Given the description of an element on the screen output the (x, y) to click on. 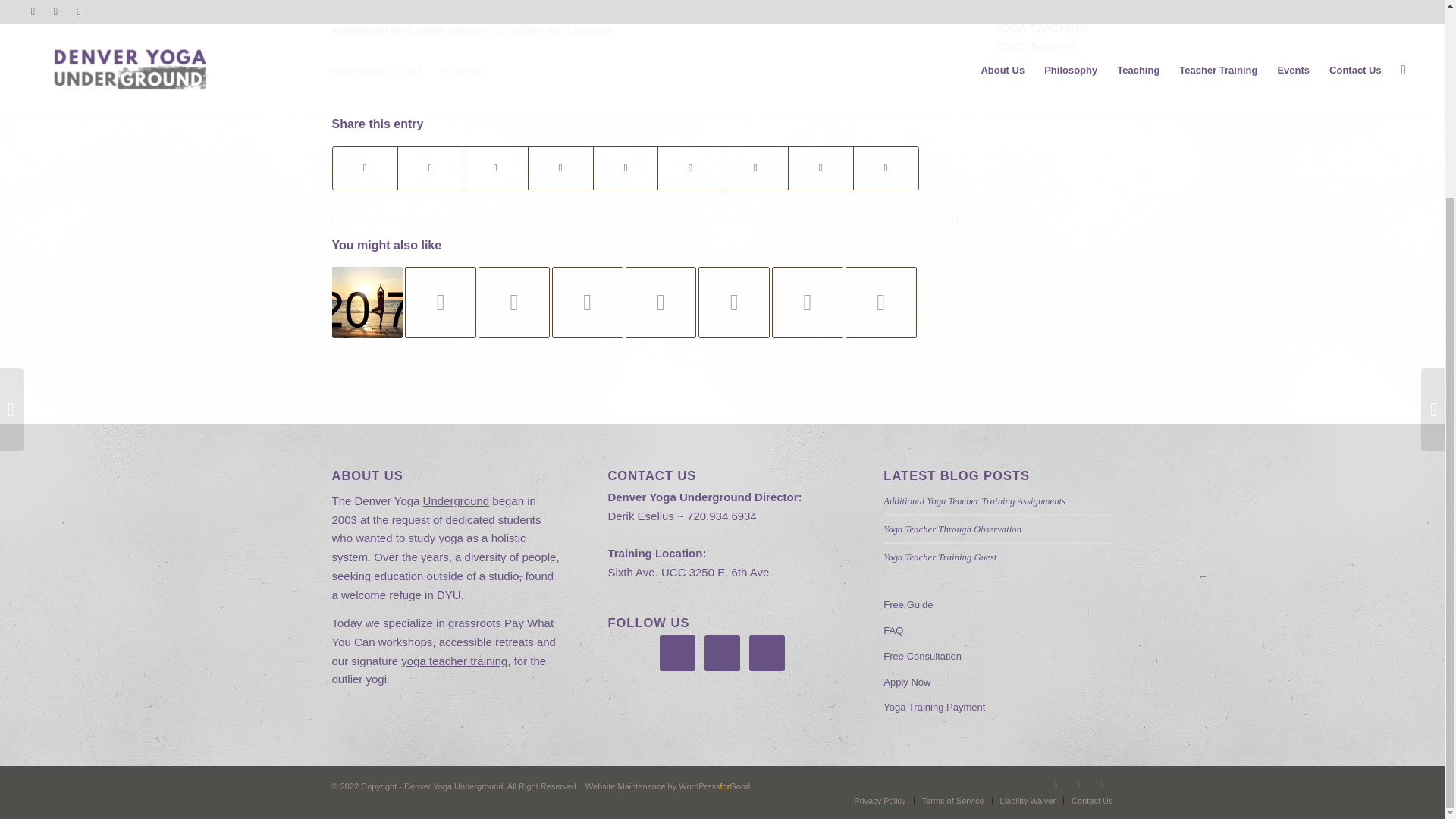
DERIK (469, 71)
Posts by derik (469, 71)
Yoga Resolution 3: Make Meditation A Priority (367, 302)
